Given the description of an element on the screen output the (x, y) to click on. 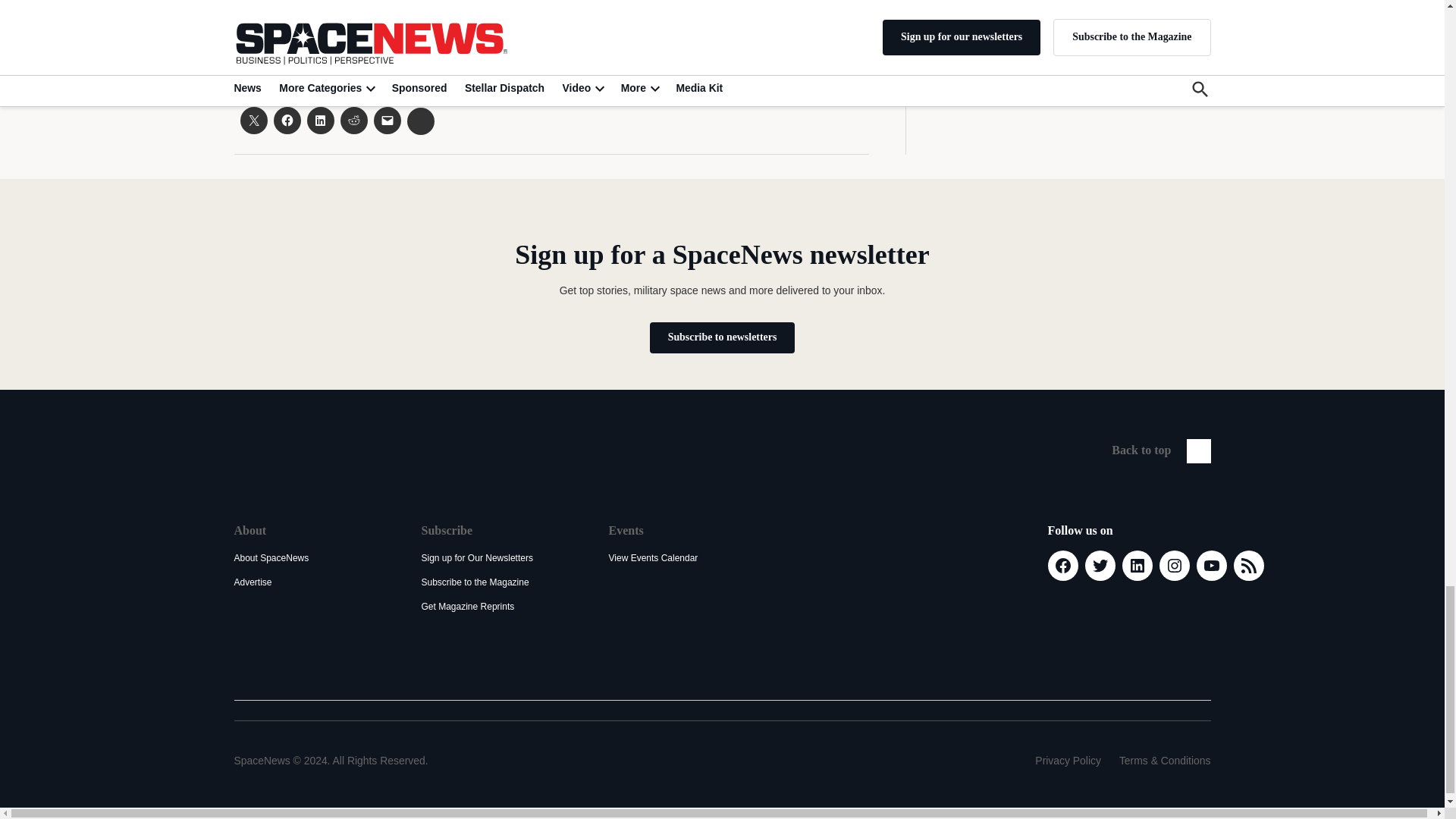
Click to share on LinkedIn (319, 120)
Click to share on X (253, 120)
Click to email a link to a friend (386, 120)
Click to share on Clipboard (419, 121)
Click to share on Reddit (352, 120)
Click to share on Facebook (286, 120)
